Given the description of an element on the screen output the (x, y) to click on. 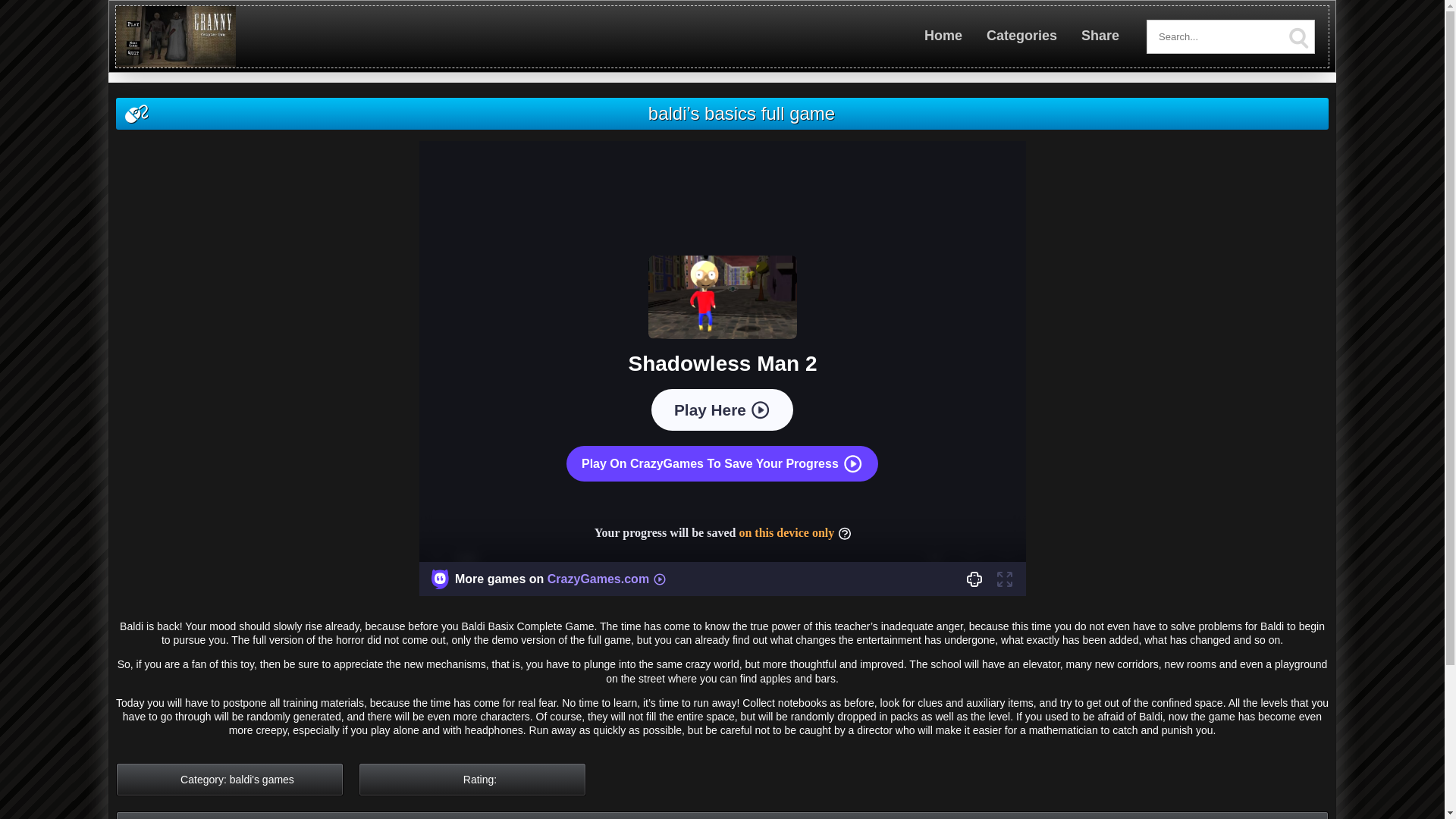
granny games online (175, 63)
Categories (1021, 35)
